Given the description of an element on the screen output the (x, y) to click on. 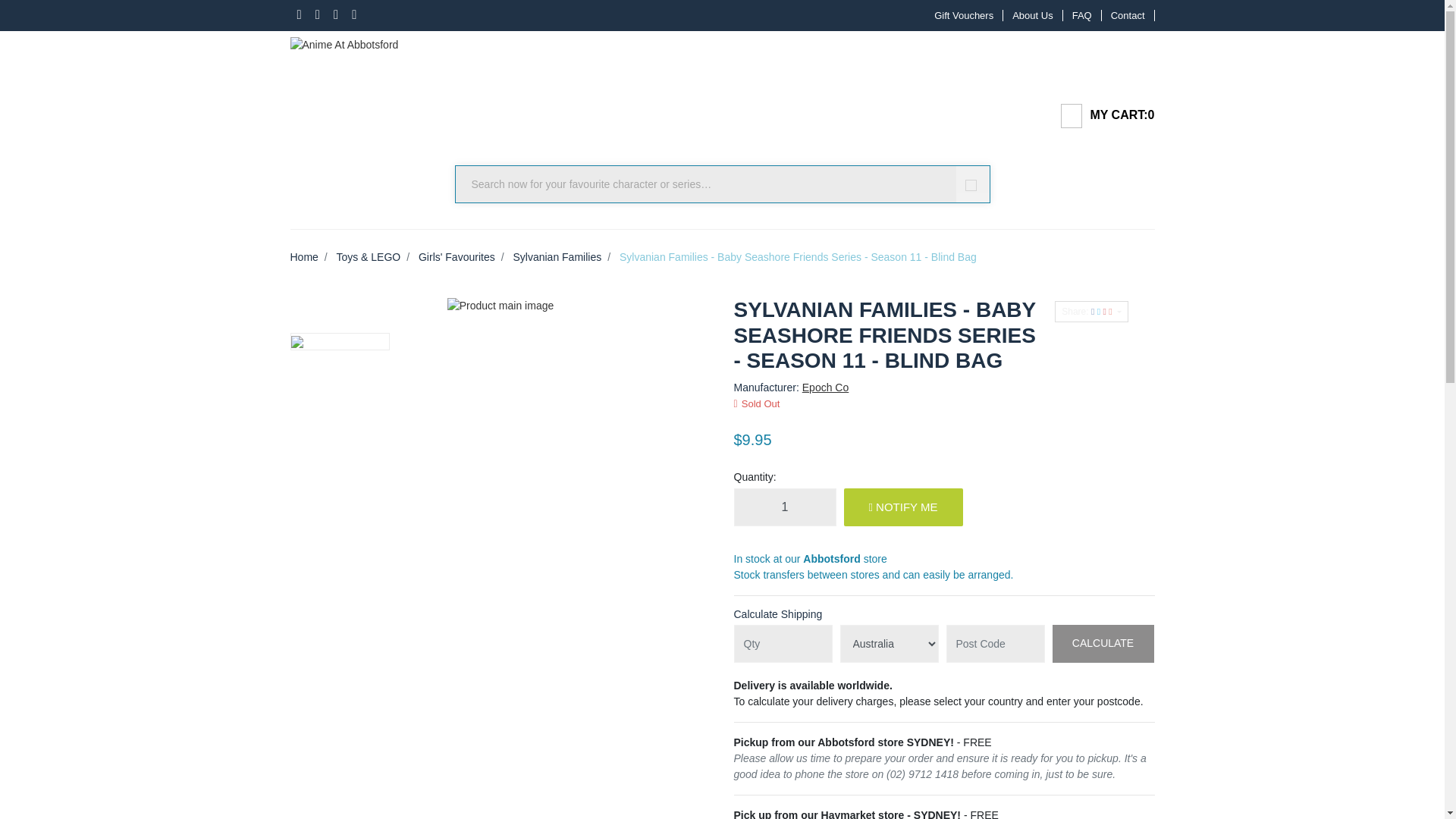
Contact (1128, 15)
Gift Vouchers (963, 15)
FAQ (1082, 15)
MY CART:0 (1101, 116)
About Us (1032, 15)
Calculate (1103, 643)
1 (784, 507)
Anime At Abbotsford (343, 40)
